Given the description of an element on the screen output the (x, y) to click on. 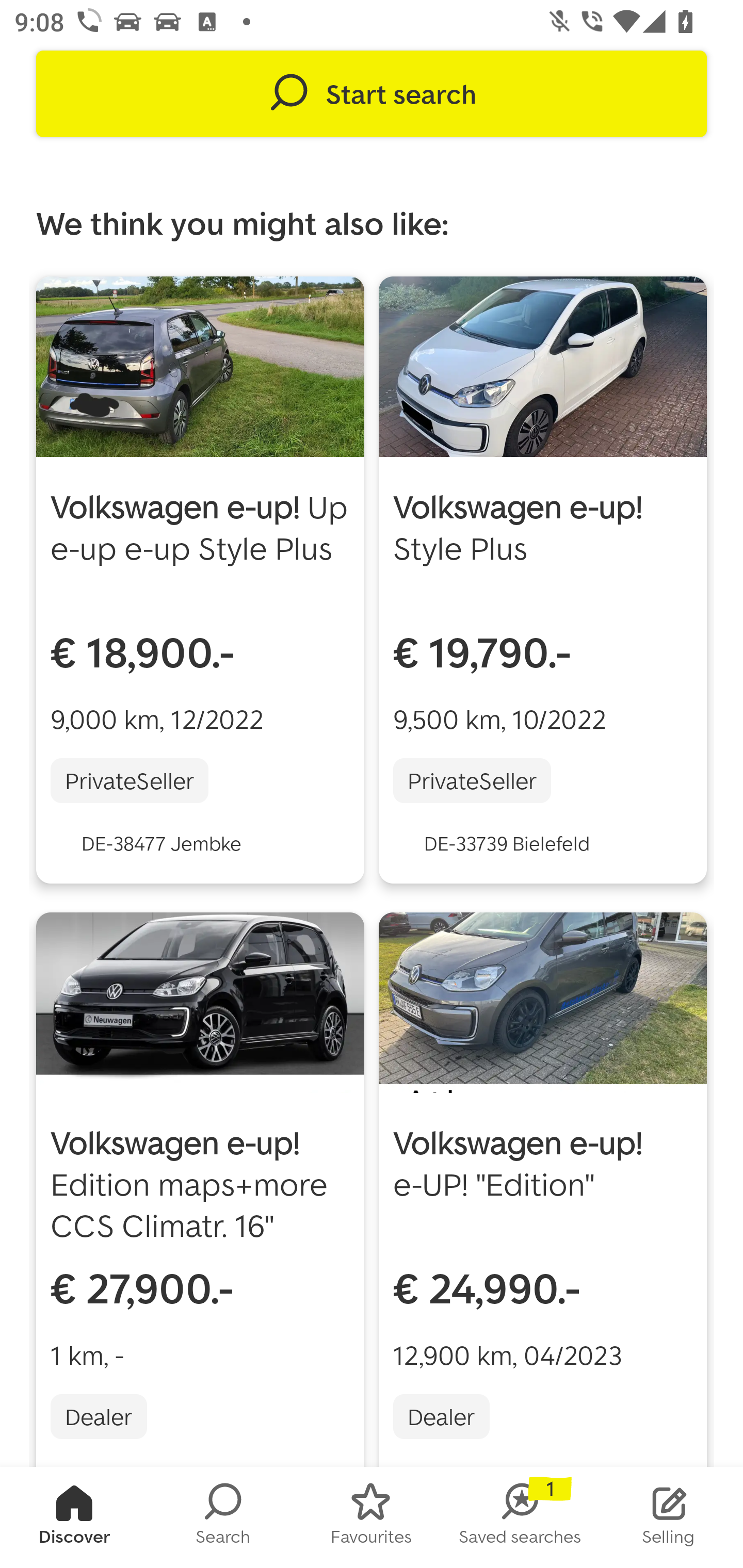
Start search (371, 93)
HOMESCREEN Discover (74, 1517)
SEARCH Search (222, 1517)
FAVORITES Favourites (371, 1517)
SAVED_SEARCHES Saved searches 1 (519, 1517)
STOCK_LIST Selling (668, 1517)
